Given the description of an element on the screen output the (x, y) to click on. 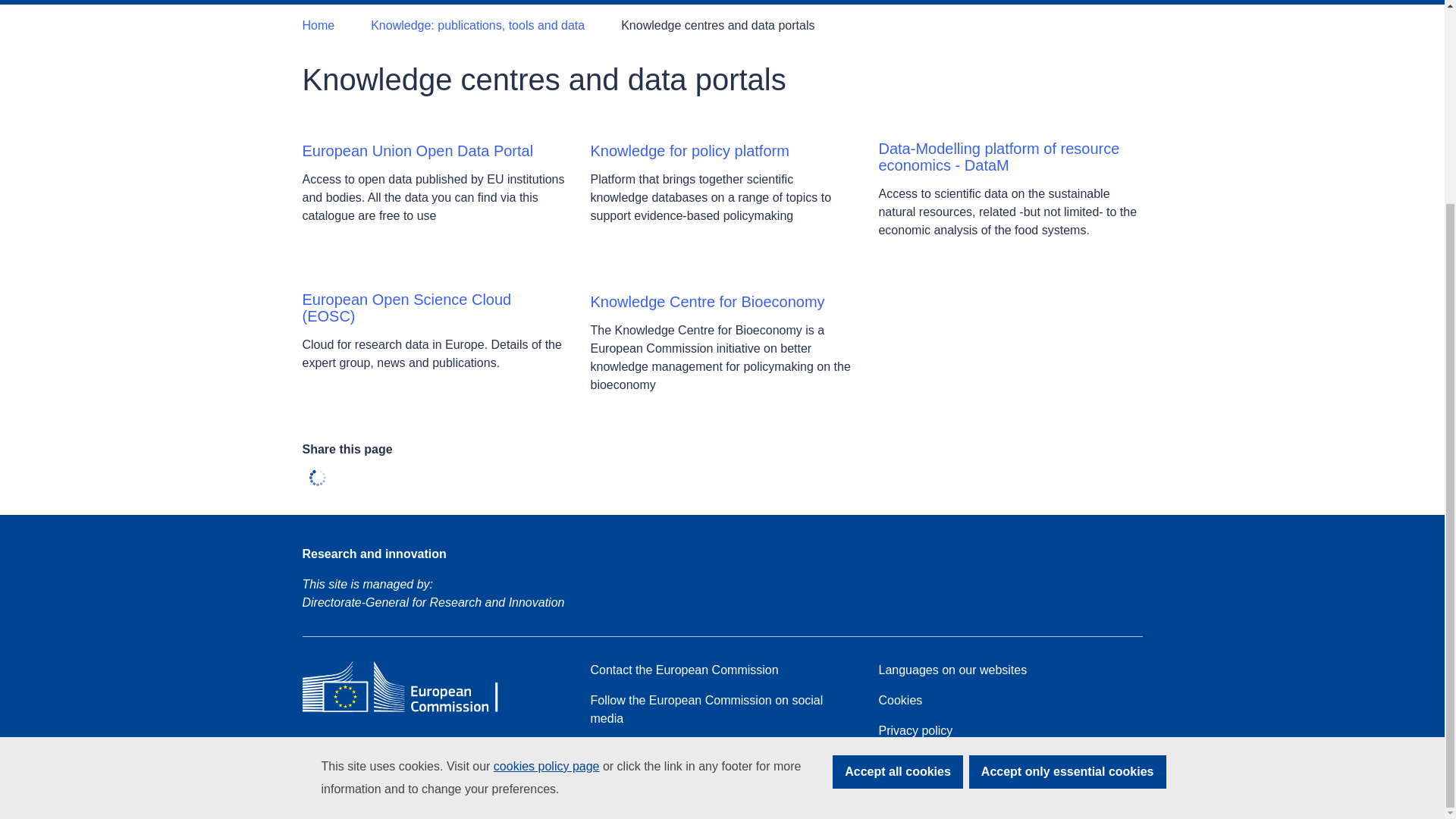
European Union Open Data Portal (416, 150)
cookies policy page (546, 504)
Languages on our websites (951, 669)
Resources for partners (651, 749)
Knowledge Centre for Bioeconomy (706, 301)
Knowledge for policy platform (689, 150)
Knowledge: publications, tools and data (478, 25)
Follow the European Commission on social media (721, 709)
Contact the European Commission (683, 669)
European Commission (411, 711)
Report an IT vulnerability (657, 779)
Accept only essential cookies (1067, 510)
Legal notice (910, 761)
Home (317, 25)
Privacy policy (914, 730)
